Given the description of an element on the screen output the (x, y) to click on. 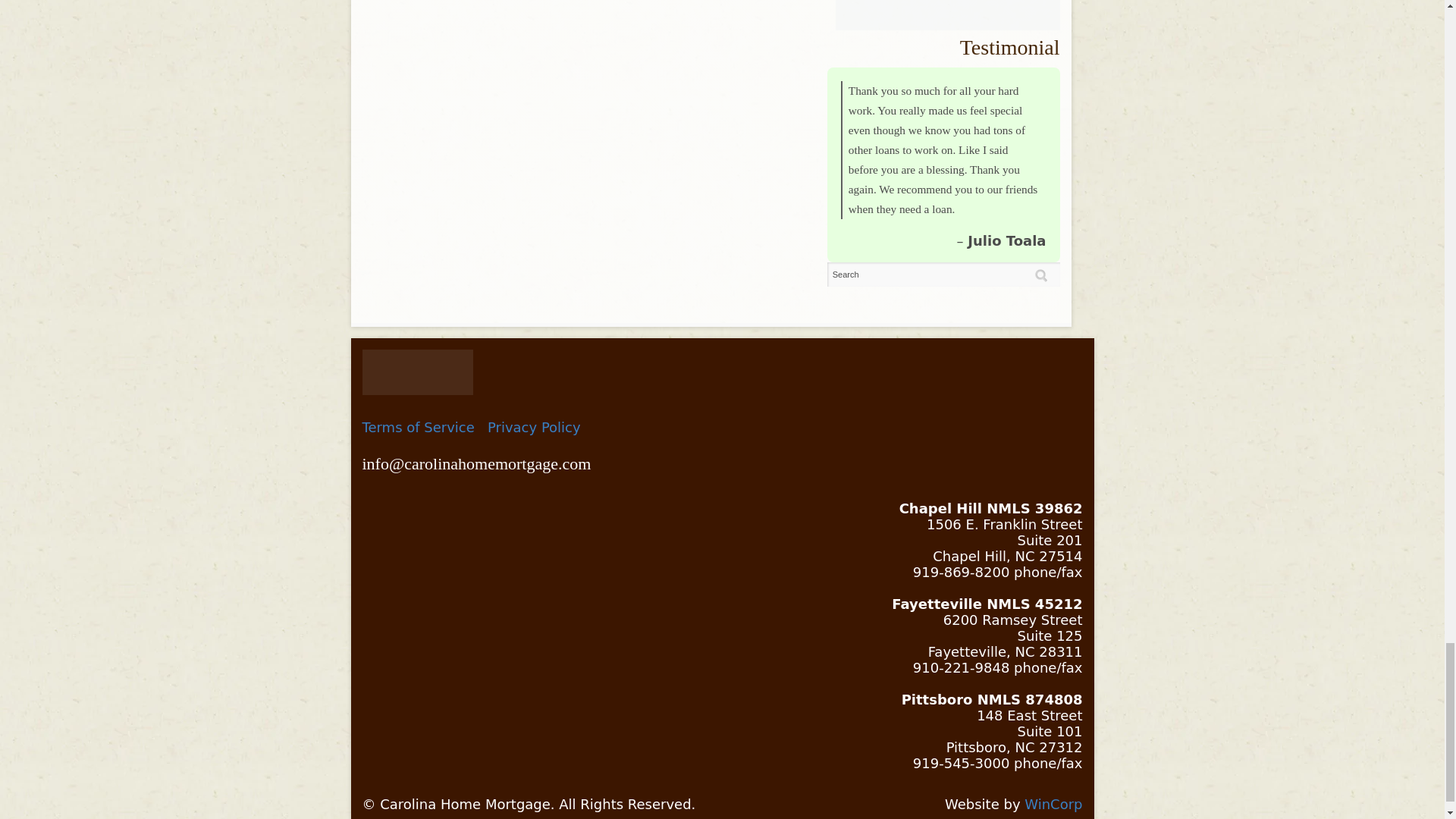
Search (943, 274)
Terms of Service (418, 426)
